Given the description of an element on the screen output the (x, y) to click on. 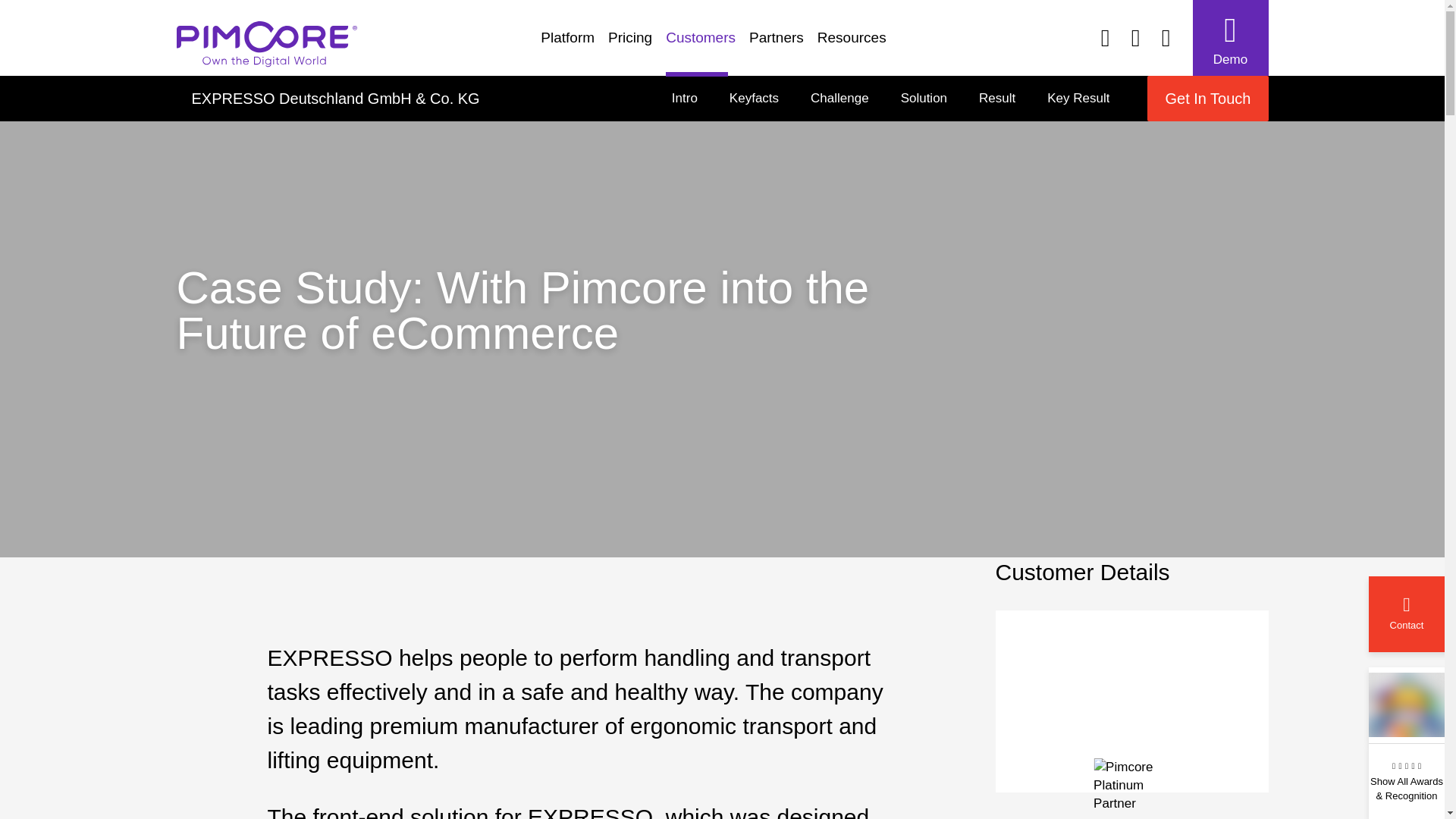
Platform (574, 44)
Partners (782, 44)
Keyfacts (753, 99)
Key Result (1077, 99)
Intro (684, 99)
Result (996, 99)
Challenge (839, 99)
Solution (924, 99)
Pricing (890, 99)
